Given the description of an element on the screen output the (x, y) to click on. 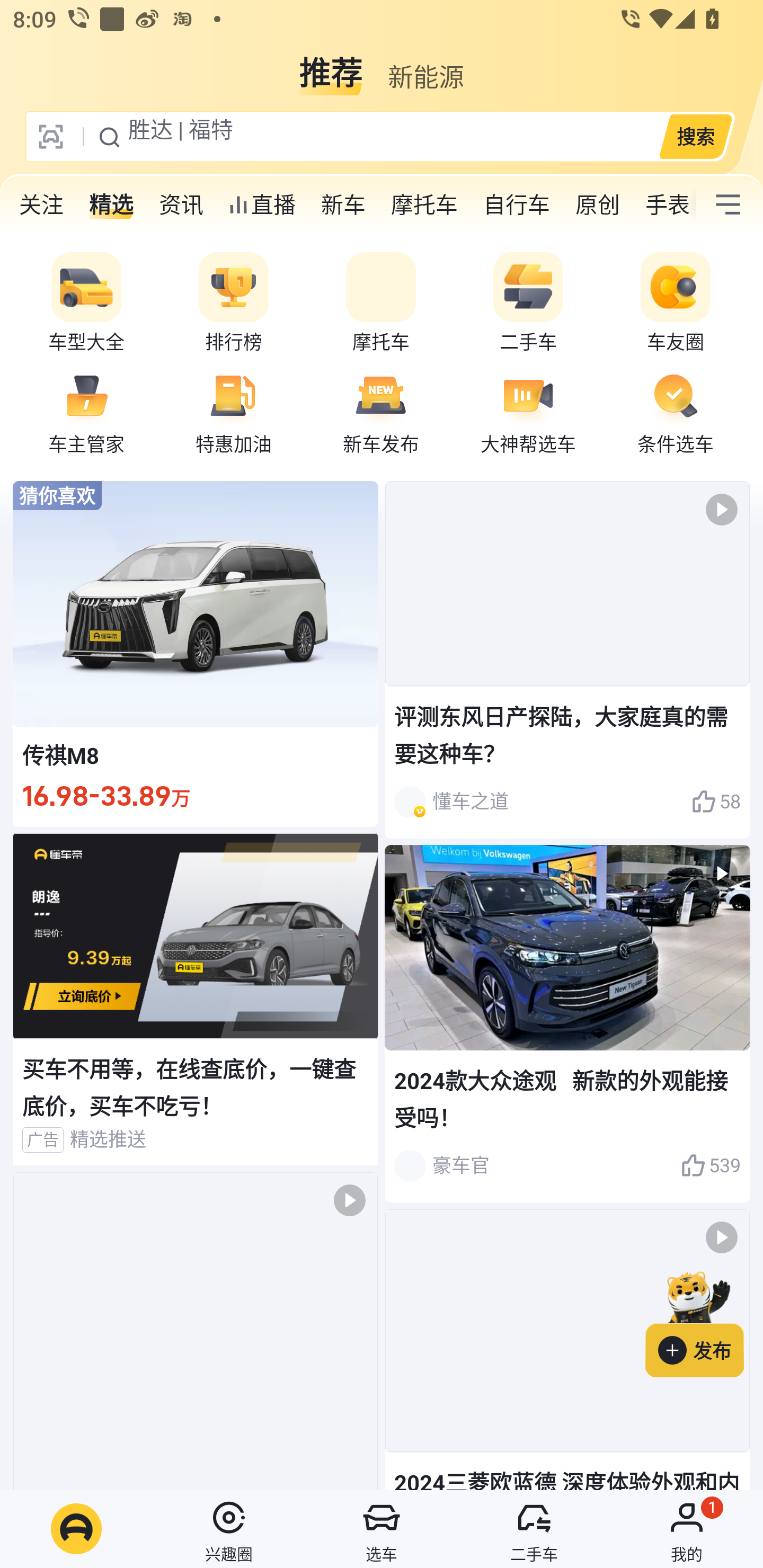
推荐 (330, 65)
新能源 (425, 65)
搜索 (695, 136)
关注 (41, 204)
精选 (111, 204)
资讯 (180, 204)
直播 (261, 204)
新车 (343, 204)
摩托车 (424, 204)
自行车 (516, 204)
原创 (597, 204)
手表 (663, 204)
 (727, 204)
车型大全 (86, 303)
排行榜 (233, 303)
摩托车 (380, 303)
二手车 (528, 303)
车友圈 (675, 303)
车主管家 (86, 411)
特惠加油 (233, 411)
新车发布 (380, 411)
大神帮选车 (528, 411)
条件选车 (675, 411)
猜你喜欢 传祺M8 16.98-33.89万 (195, 653)
 评测东风日产探陆，大家庭真的需要这种车？ 懂车之道 58 (567, 659)
58 (715, 801)
买车不用等，在线查底价，一键查底价，买车不吃亏！ 广告 精选推送 (195, 998)
 2024款大众途观   新款的外观能接受吗！ 豪车官 539 (567, 1023)
539 (710, 1165)
 (195, 1330)
 2024三菱欧蓝德 深度体验外观和内饰 三菱真的要退出中国市场了？ (567, 1348)
发布 (704, 1320)
 兴趣圈 (228, 1528)
 选车 (381, 1528)
 二手车 (533, 1528)
 我的 (686, 1528)
